Given the description of an element on the screen output the (x, y) to click on. 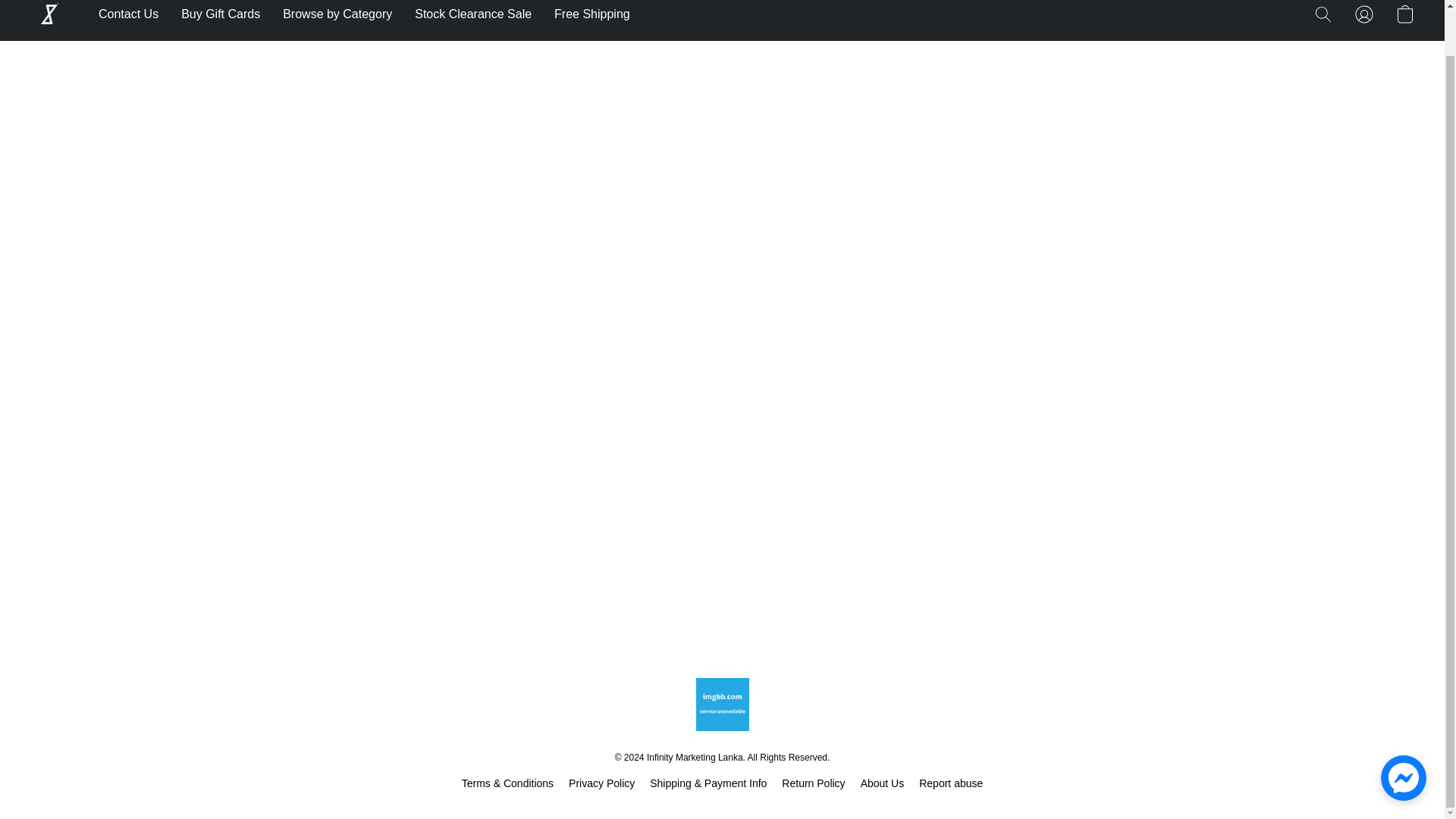
Return Policy (812, 782)
Go to your shopping cart (1404, 15)
Report abuse (950, 782)
Contact Us (134, 14)
Stock Clearance Sale (473, 14)
Free Shipping (586, 14)
About Us (882, 782)
Buy Gift Cards (220, 14)
Privacy Policy (601, 782)
Search the website (1323, 15)
